Given the description of an element on the screen output the (x, y) to click on. 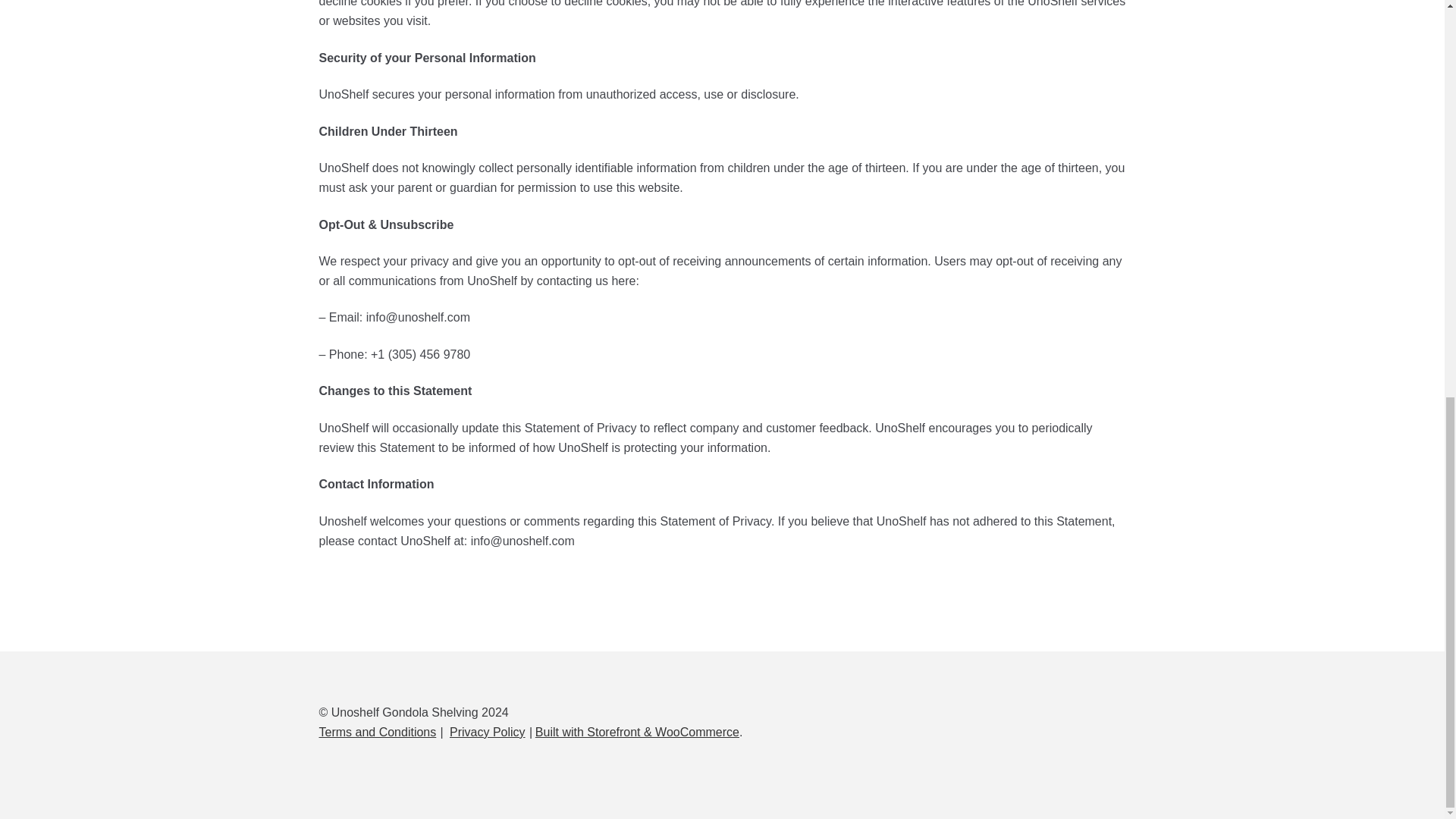
WooCommerce - The Best eCommerce Platform for WordPress (637, 731)
